Given the description of an element on the screen output the (x, y) to click on. 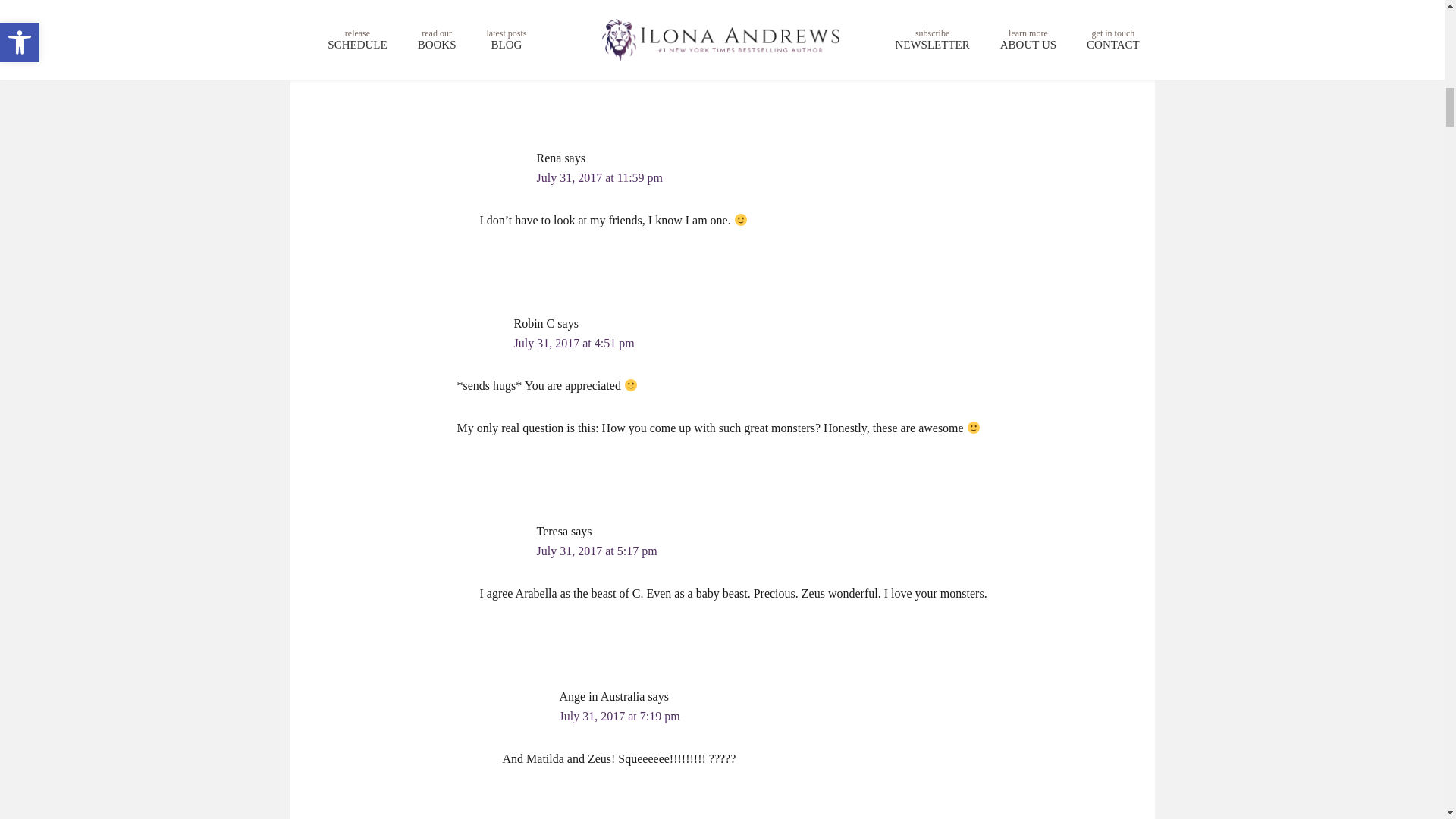
July 31, 2017 at 4:51 pm (573, 342)
July 31, 2017 at 5:17 pm (597, 550)
July 31, 2017 at 11:59 pm (600, 177)
July 31, 2017 at 7:19 pm (619, 716)
